Given the description of an element on the screen output the (x, y) to click on. 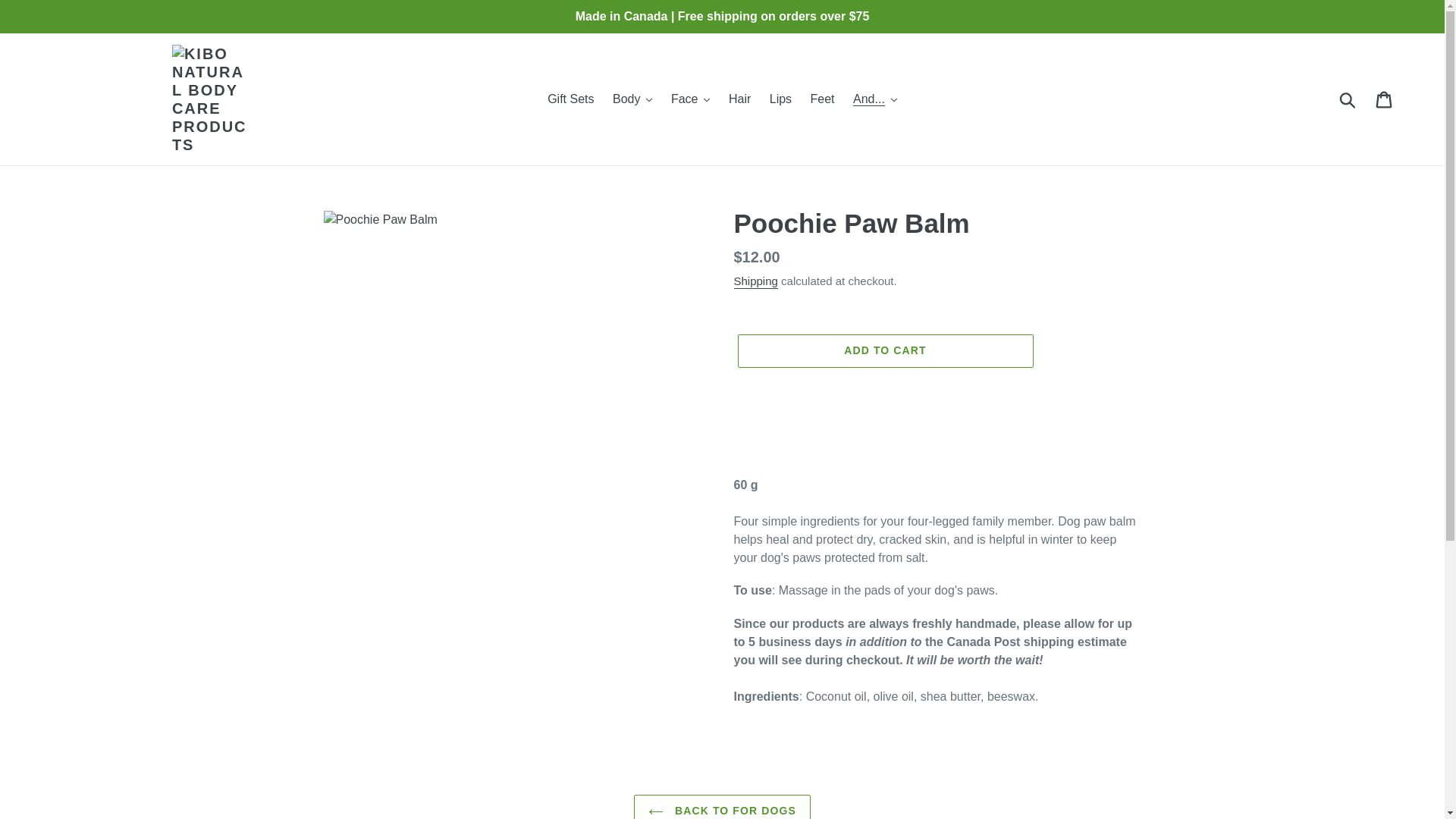
Hair (739, 98)
Cart (1385, 99)
Gift Sets (570, 98)
Lips (780, 98)
Submit (1348, 99)
Feet (823, 98)
